Given the description of an element on the screen output the (x, y) to click on. 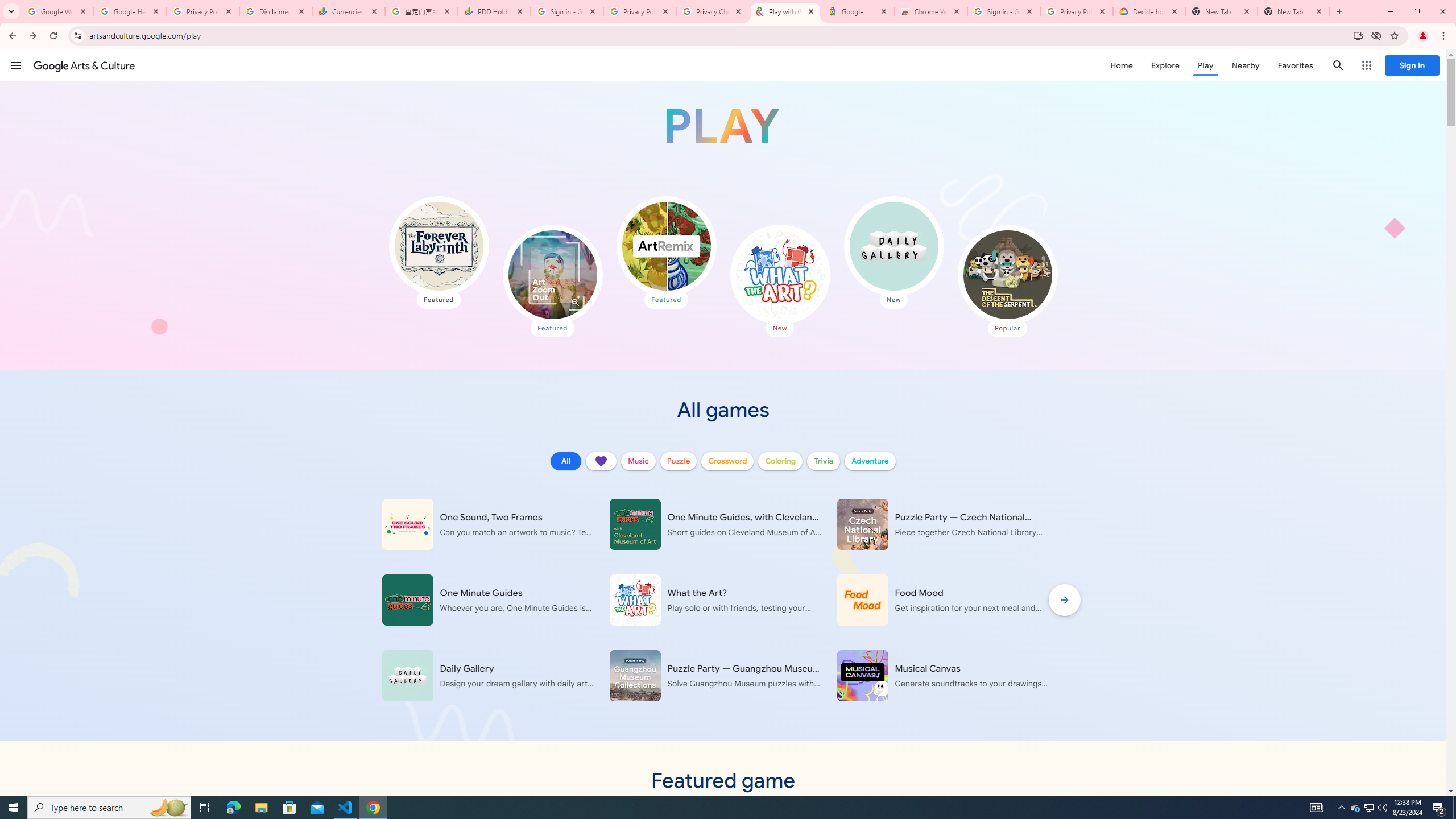
Chrome Web Store - Color themes by Chrome (930, 11)
Google (857, 11)
The Descent of the Serpent (1007, 274)
Sign in - Google Accounts (1003, 11)
